Given the description of an element on the screen output the (x, y) to click on. 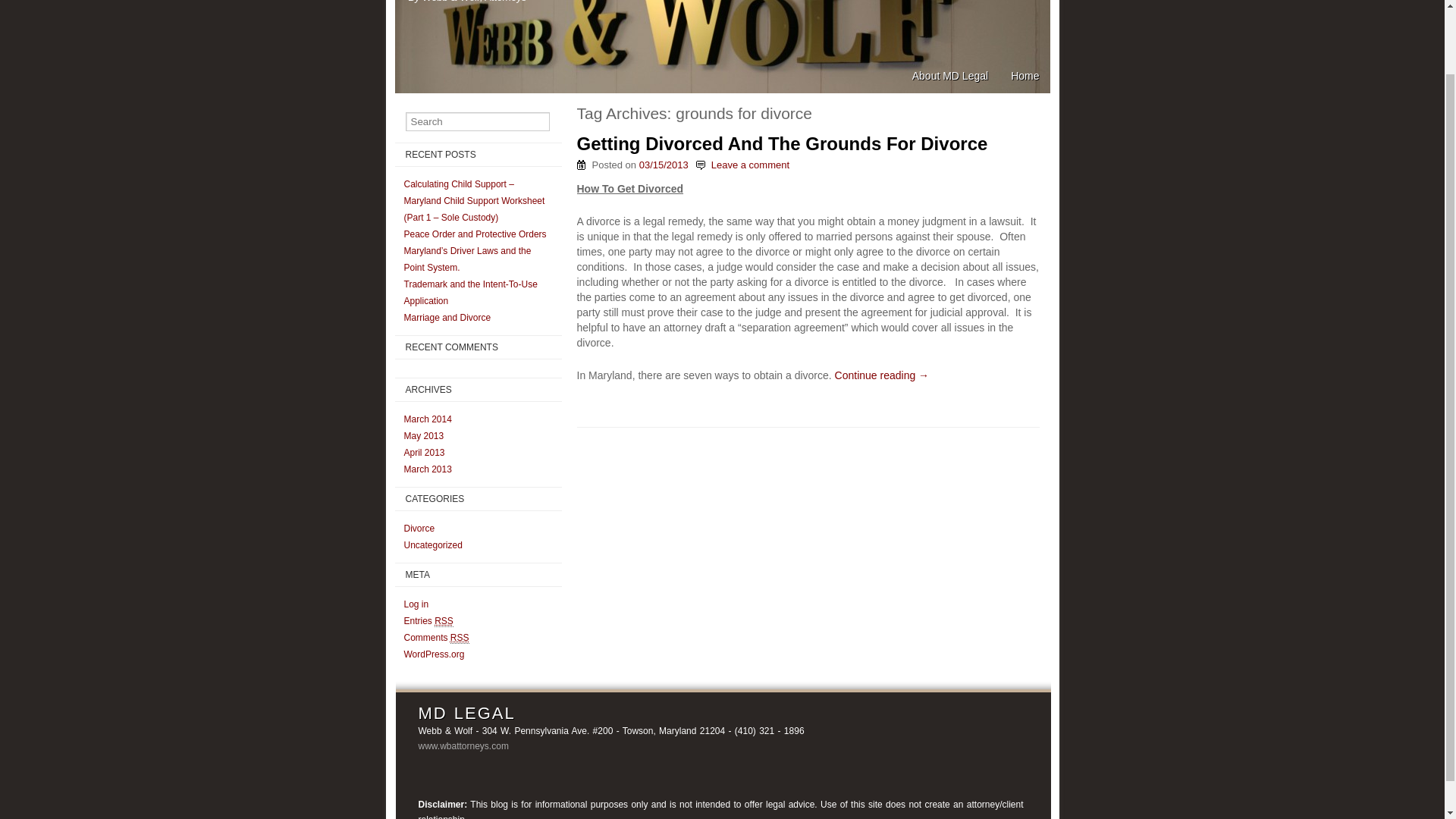
March 2014 (427, 419)
WordPress.org (433, 654)
Getting Divorced And The Grounds For Divorce (781, 143)
Marriage and Divorce (446, 317)
Leave a comment (750, 164)
About MD Legal (949, 75)
Peace Order and Protective Orders (474, 234)
March 2013 (427, 469)
Entries RSS (427, 621)
Permalink to Getting Divorced and the Grounds for Divorce (781, 143)
